Given the description of an element on the screen output the (x, y) to click on. 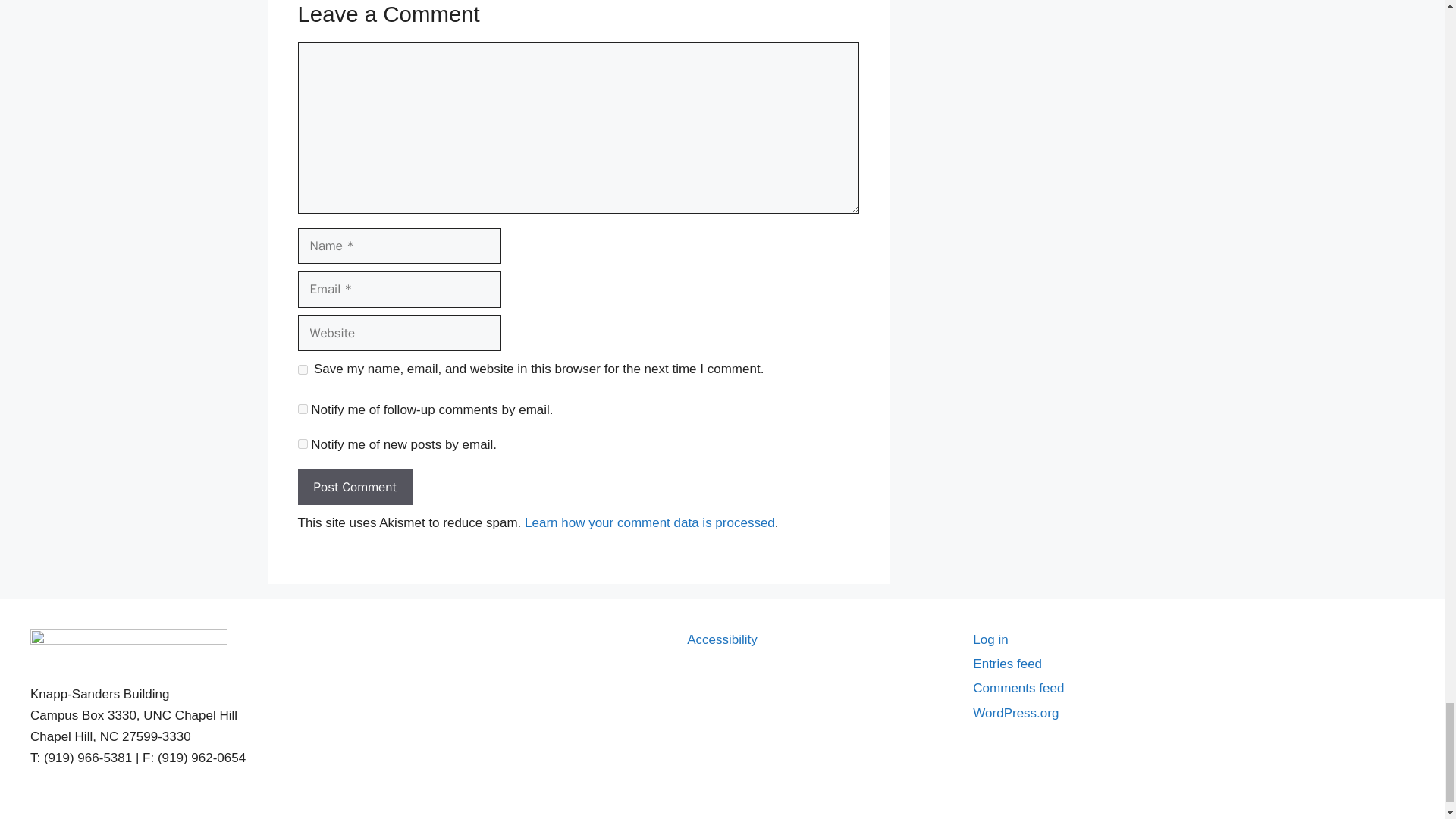
subscribe (302, 409)
yes (302, 369)
subscribe (302, 443)
Post Comment (354, 487)
